Given the description of an element on the screen output the (x, y) to click on. 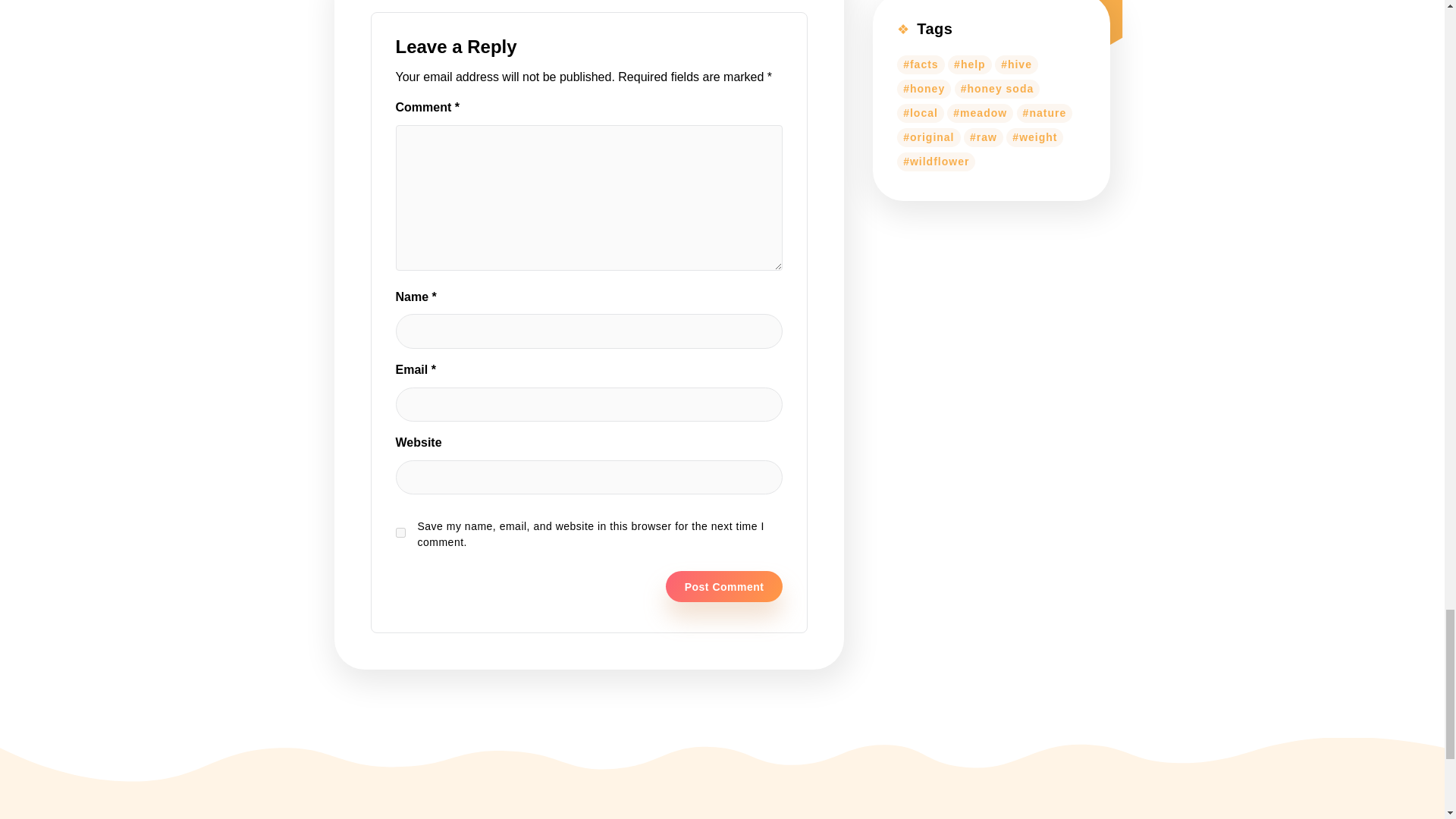
yes (401, 532)
Post Comment (724, 586)
Post Comment (724, 586)
